Given the description of an element on the screen output the (x, y) to click on. 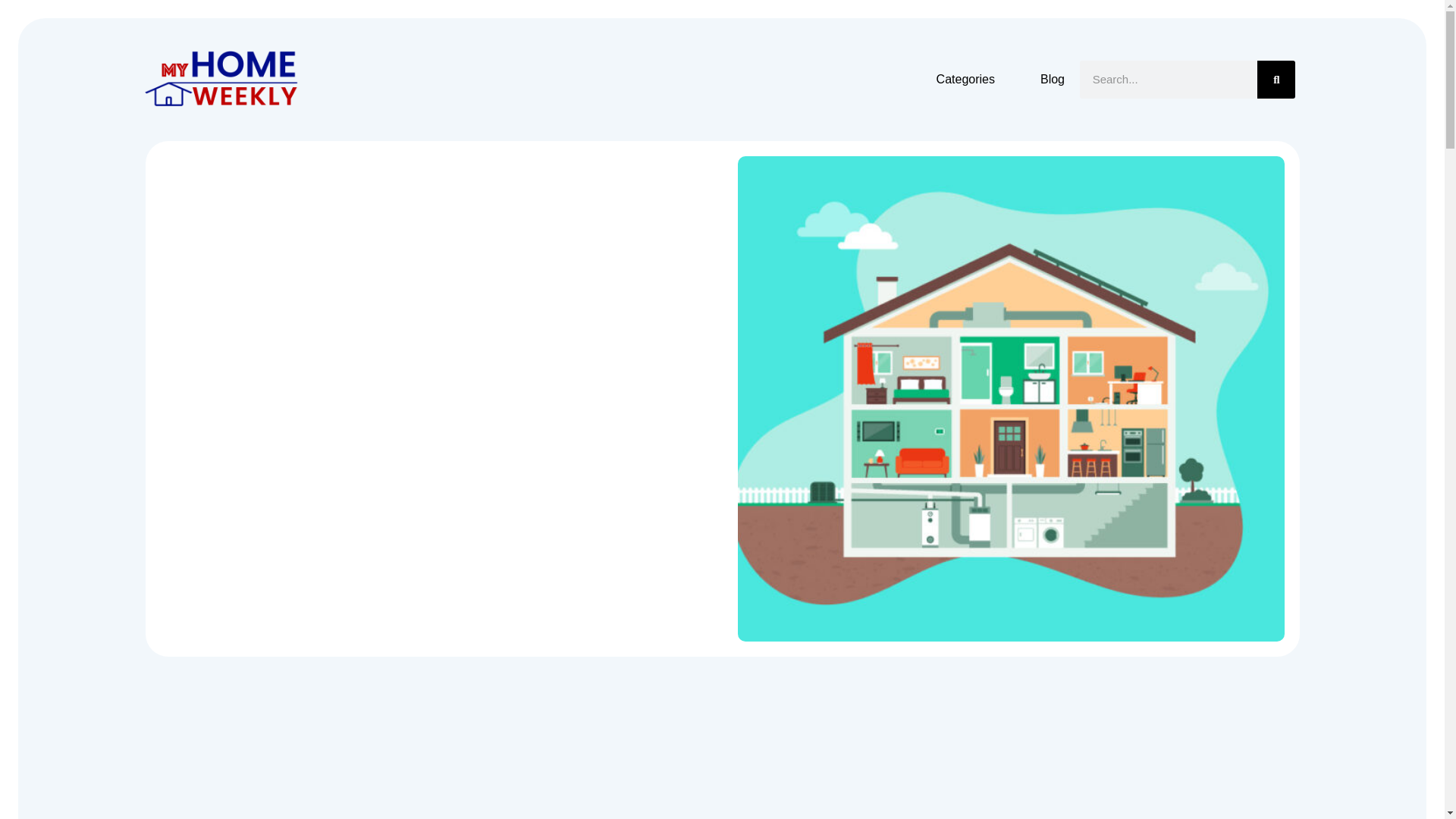
Categories (965, 79)
Blog (1052, 79)
